Given the description of an element on the screen output the (x, y) to click on. 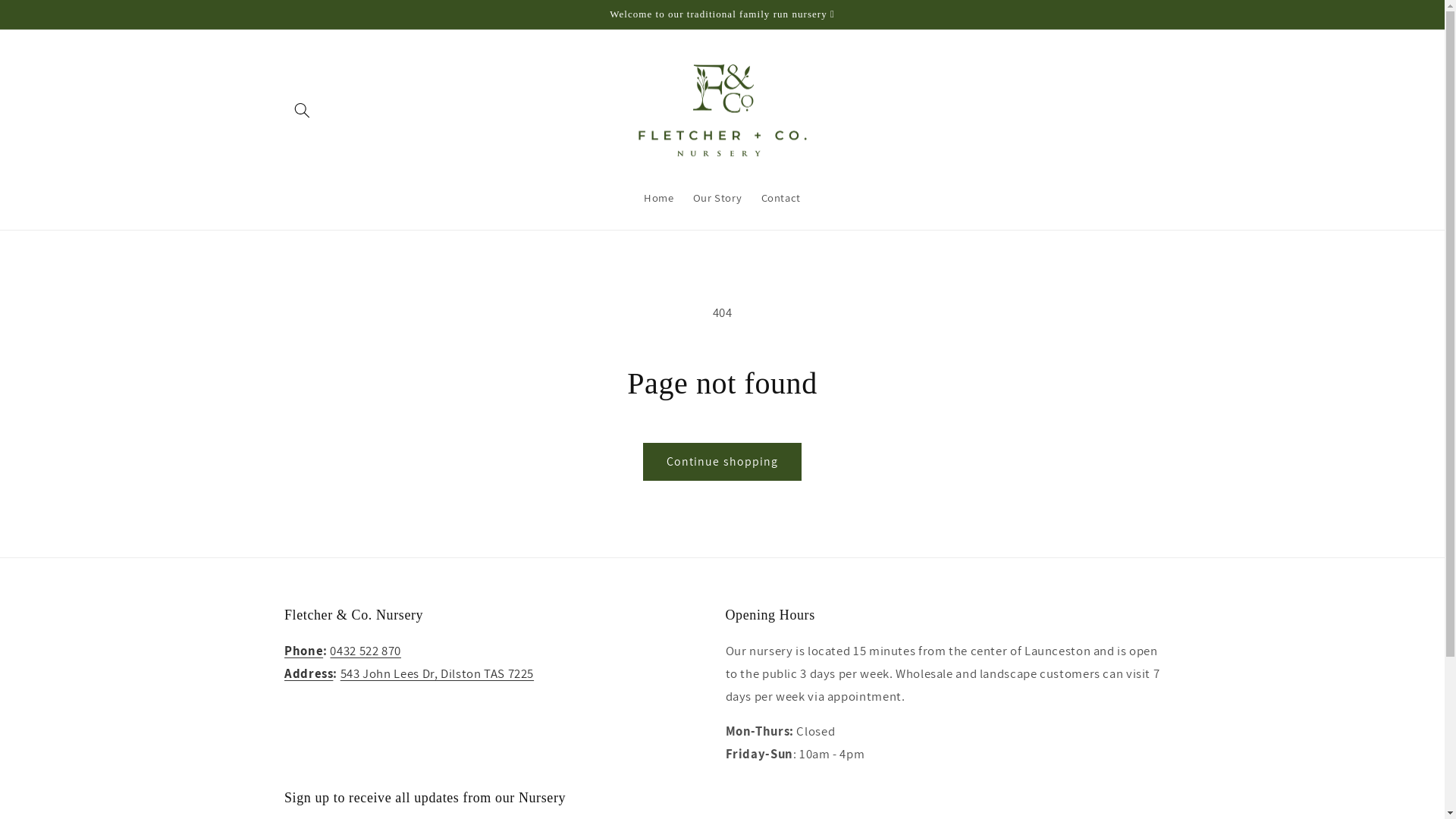
543 John Lees Dr, Dilston TAS 7225 Element type: text (436, 673)
Contact Element type: text (780, 197)
0432 522 870 Element type: text (365, 650)
Phone Element type: text (303, 650)
Home Element type: text (658, 197)
Address Element type: text (308, 673)
Our Story Element type: text (717, 197)
Continue shopping Element type: text (722, 461)
